Given the description of an element on the screen output the (x, y) to click on. 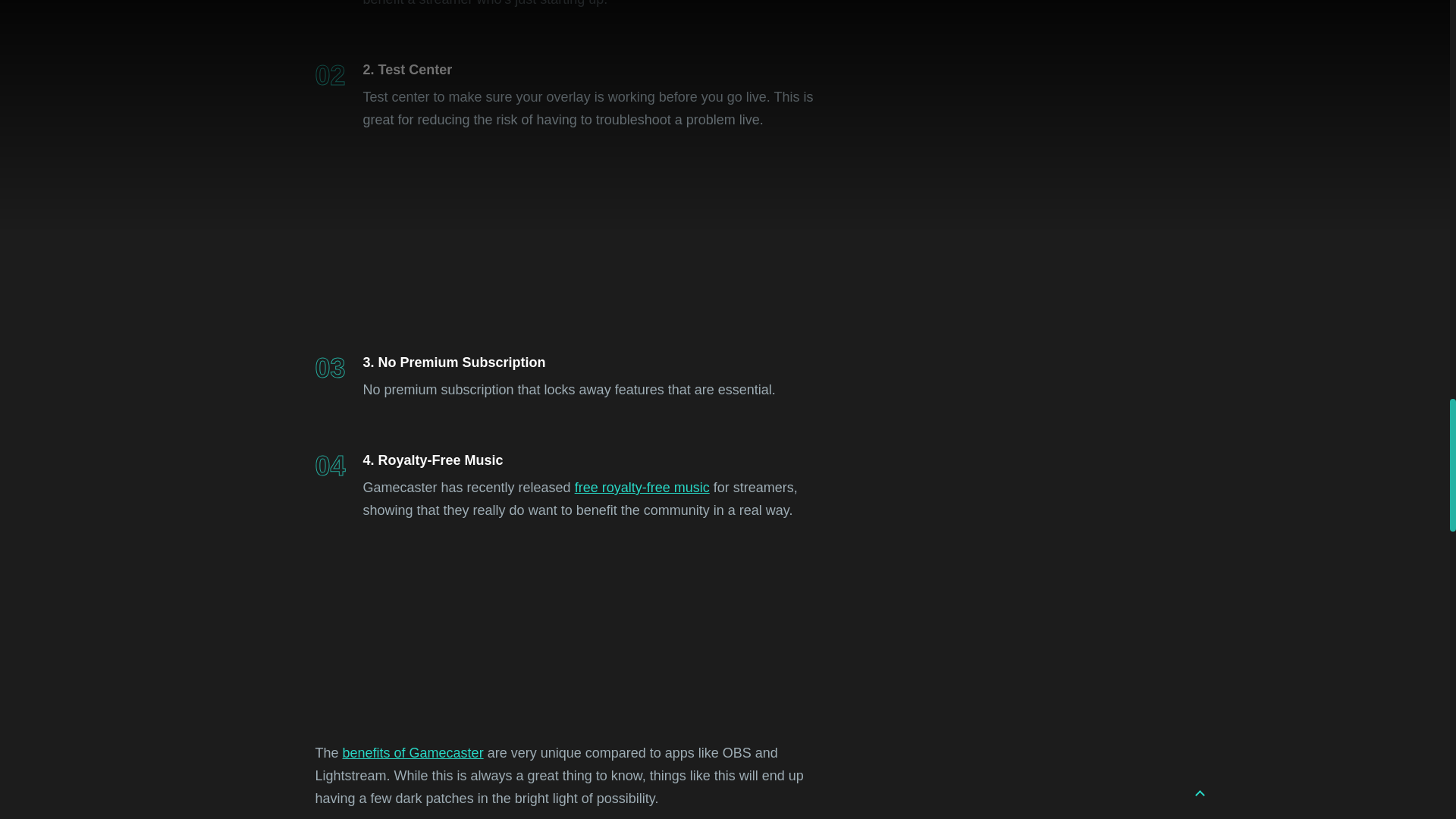
free royalty-free music (642, 487)
benefits of Gamecaster (412, 752)
